Given the description of an element on the screen output the (x, y) to click on. 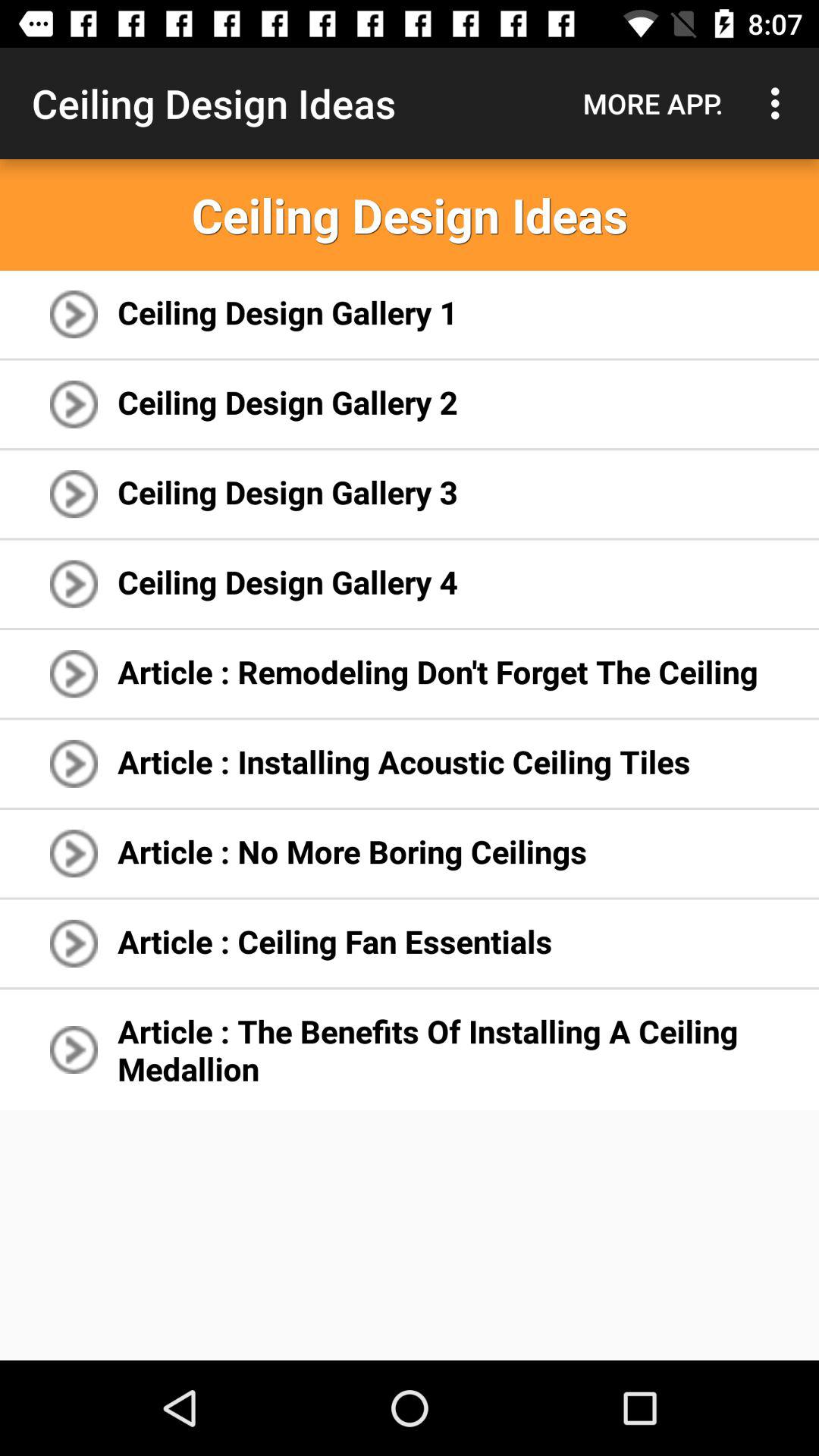
press the item above the ceiling design ideas item (653, 103)
